Given the description of an element on the screen output the (x, y) to click on. 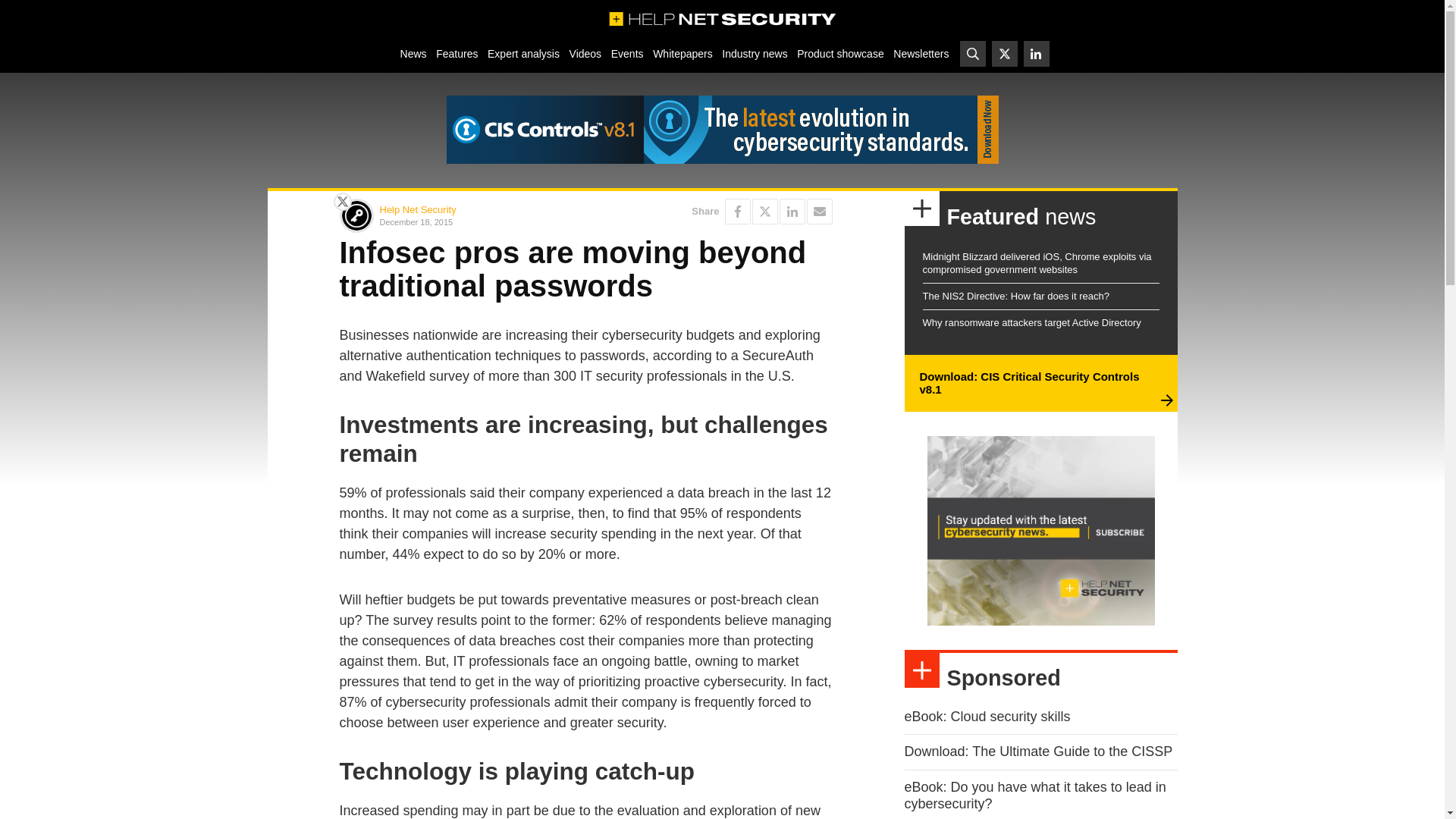
News (412, 53)
The NIS2 Directive: How far does it reach? (1014, 296)
Events (626, 53)
eBook: Cloud security skills (987, 716)
Features (456, 53)
Why ransomware attackers target Active Directory (1030, 322)
Newsletters (920, 53)
